Given the description of an element on the screen output the (x, y) to click on. 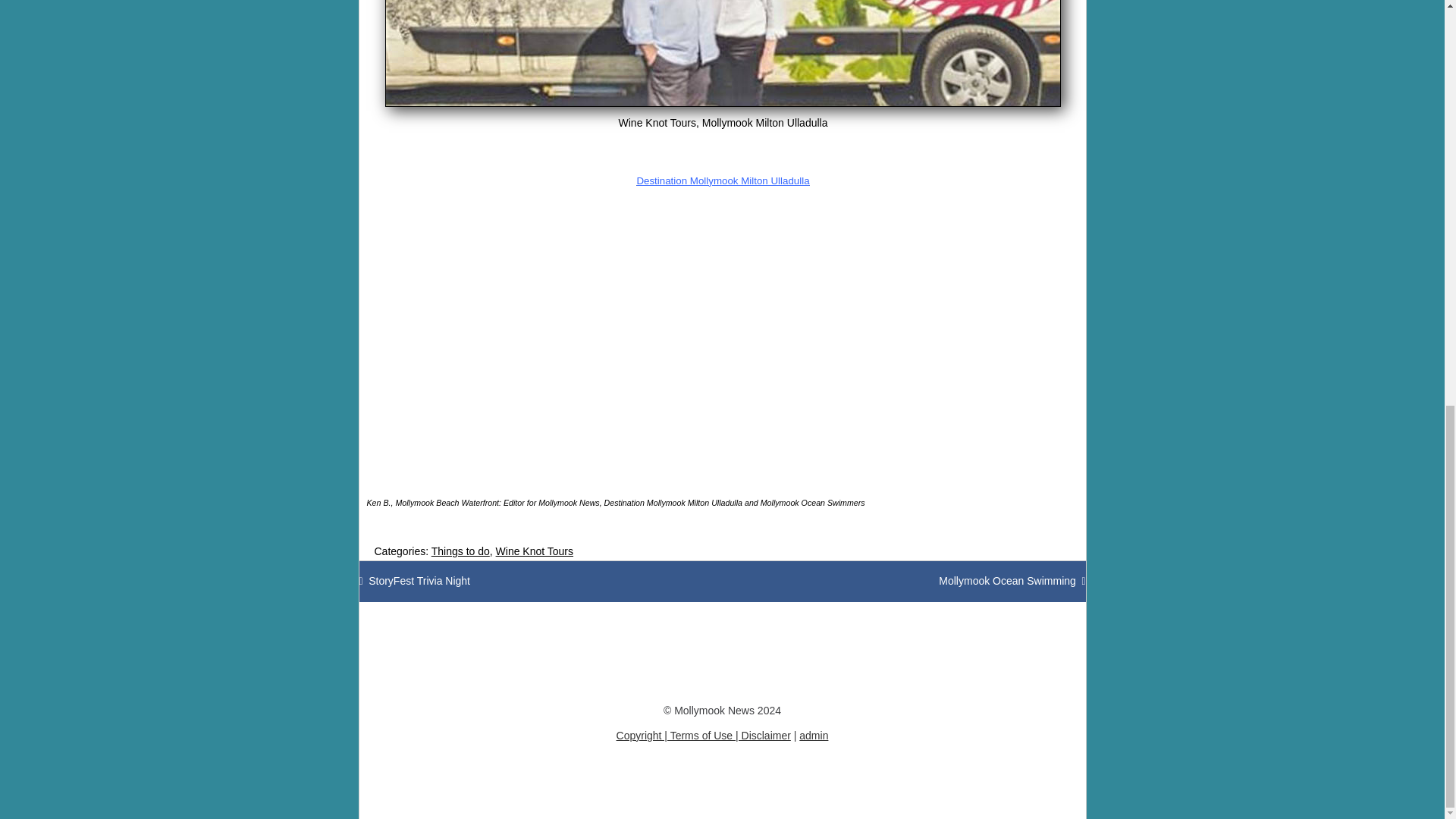
Destination Mollymook Milton Ulladulla (414, 581)
Wine Knot Tours (722, 180)
Things to do (722, 53)
Wine Knot Tours (459, 551)
Wine Knot Tours (723, 53)
admin (1011, 581)
